Given the description of an element on the screen output the (x, y) to click on. 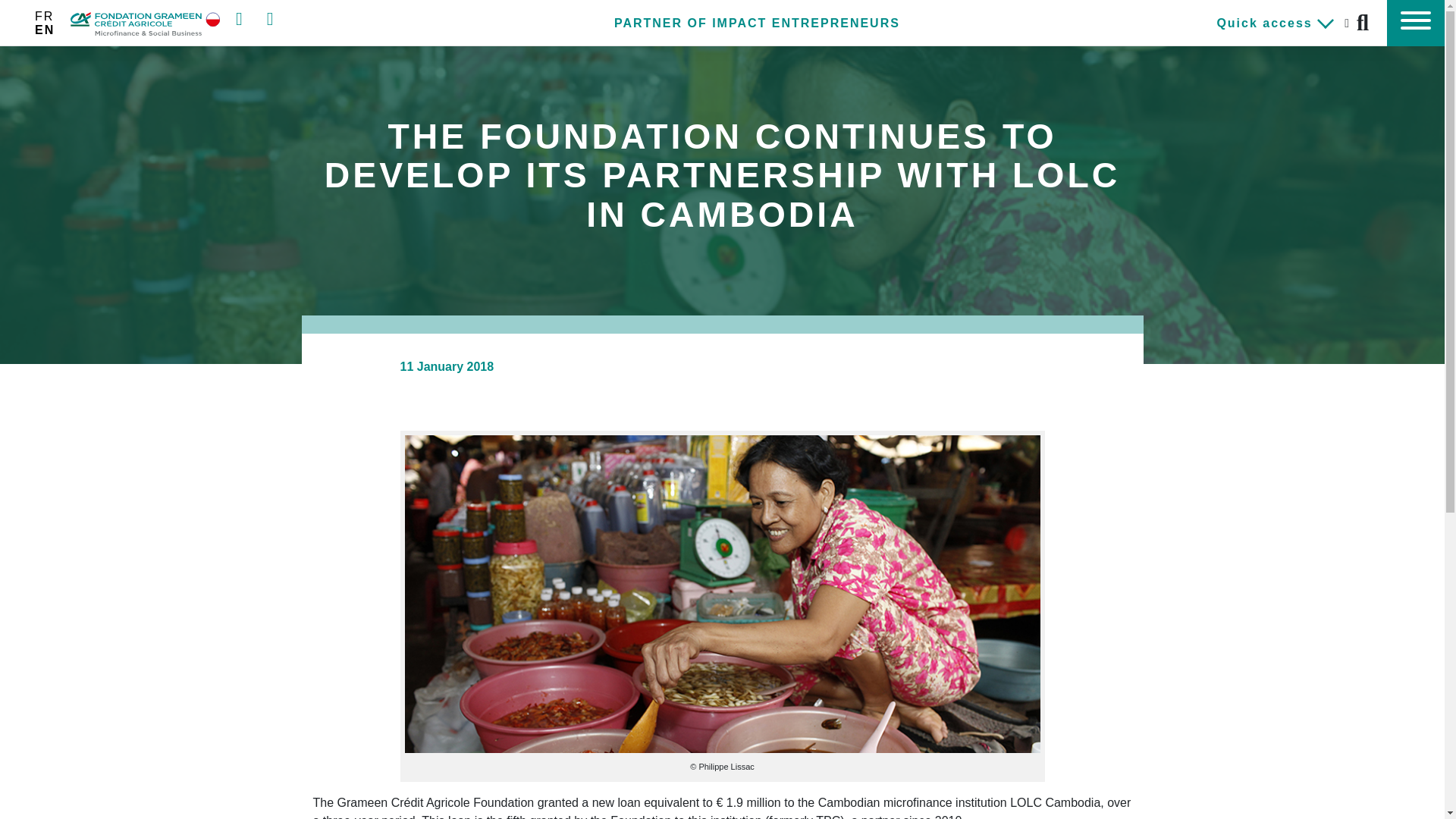
FR (43, 15)
EN (44, 29)
PARTNER OF IMPACT ENTREPRENEURS (756, 22)
